Given the description of an element on the screen output the (x, y) to click on. 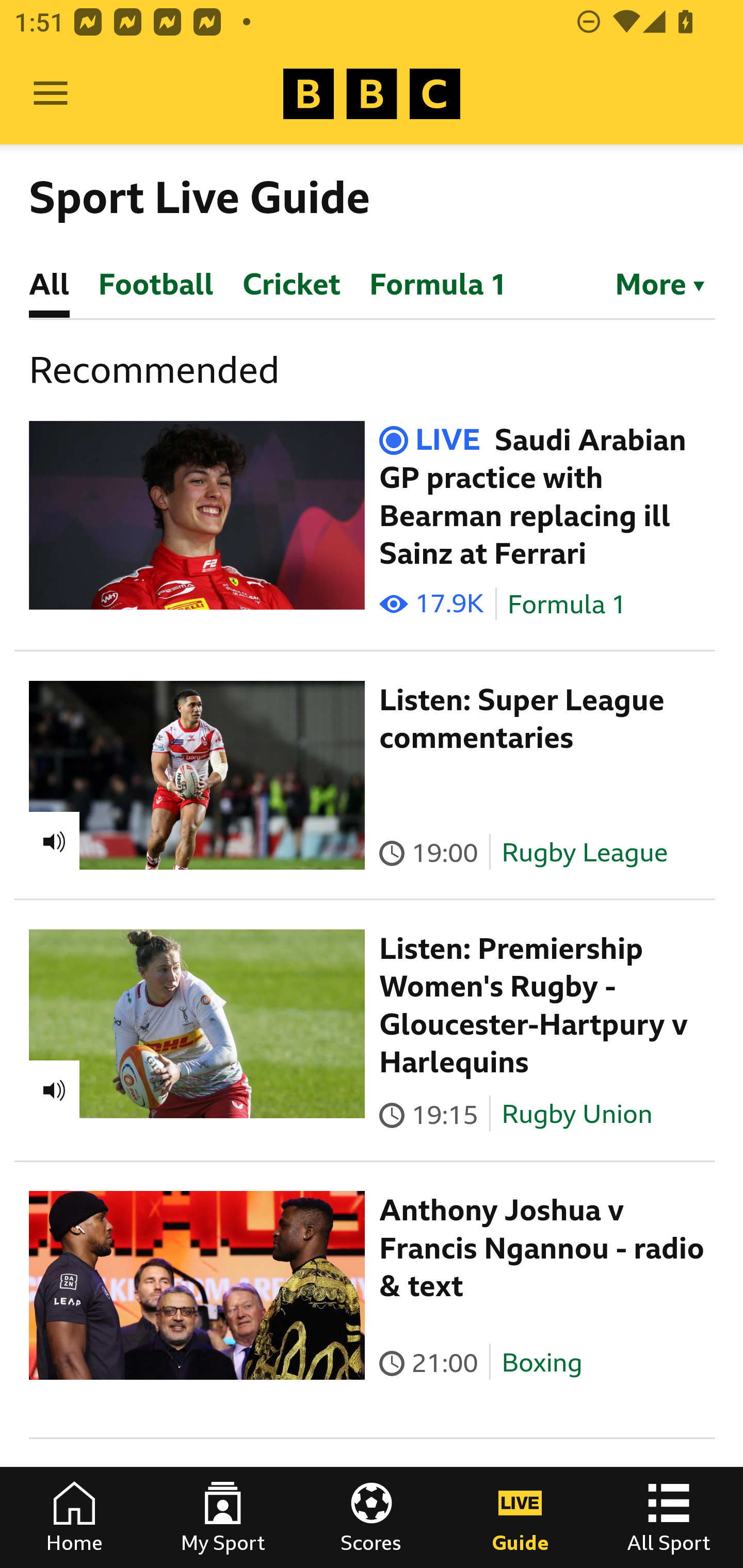
Open Menu (50, 93)
Formula 1 (566, 604)
Listen: Super League commentaries (522, 718)
Rugby League (584, 851)
Rugby Union (576, 1113)
Anthony Joshua v Francis Ngannou - radio & text (541, 1248)
Boxing (541, 1362)
Home (74, 1517)
My Sport (222, 1517)
Scores (371, 1517)
All Sport (668, 1517)
